Given the description of an element on the screen output the (x, y) to click on. 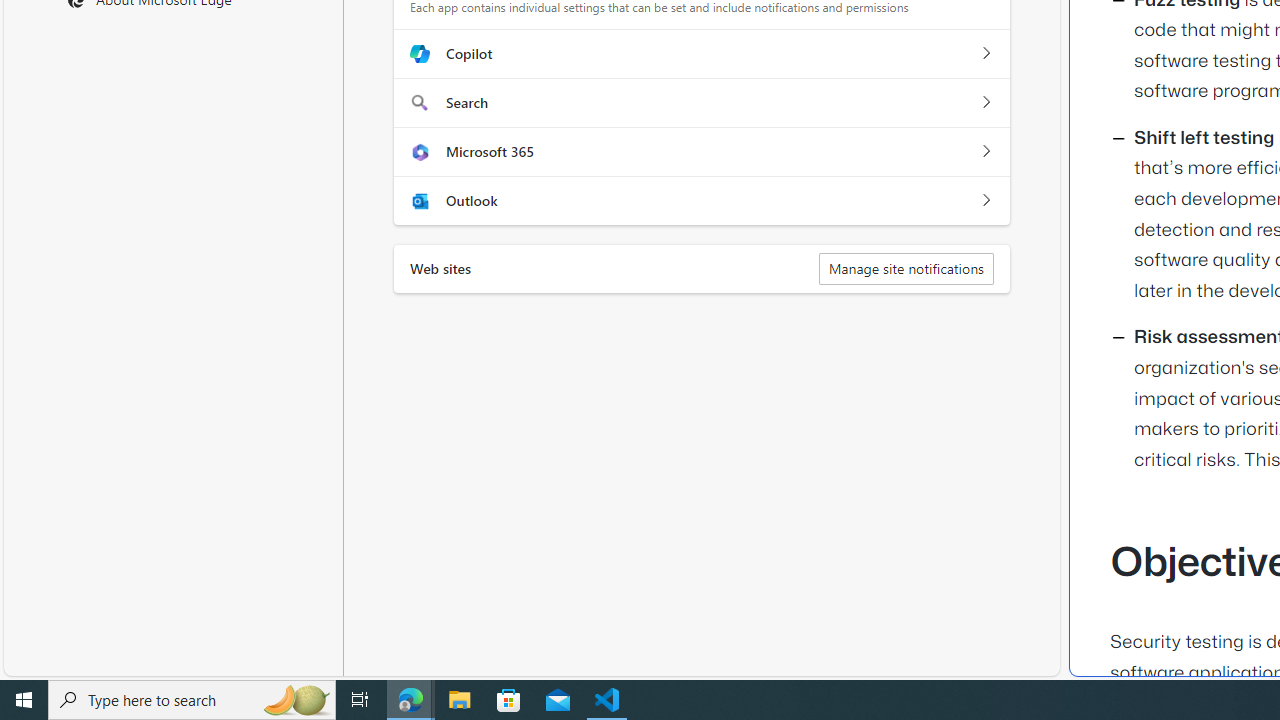
Copilot (985, 54)
Manage site notifications (905, 268)
Outlook (985, 200)
